Given the description of an element on the screen output the (x, y) to click on. 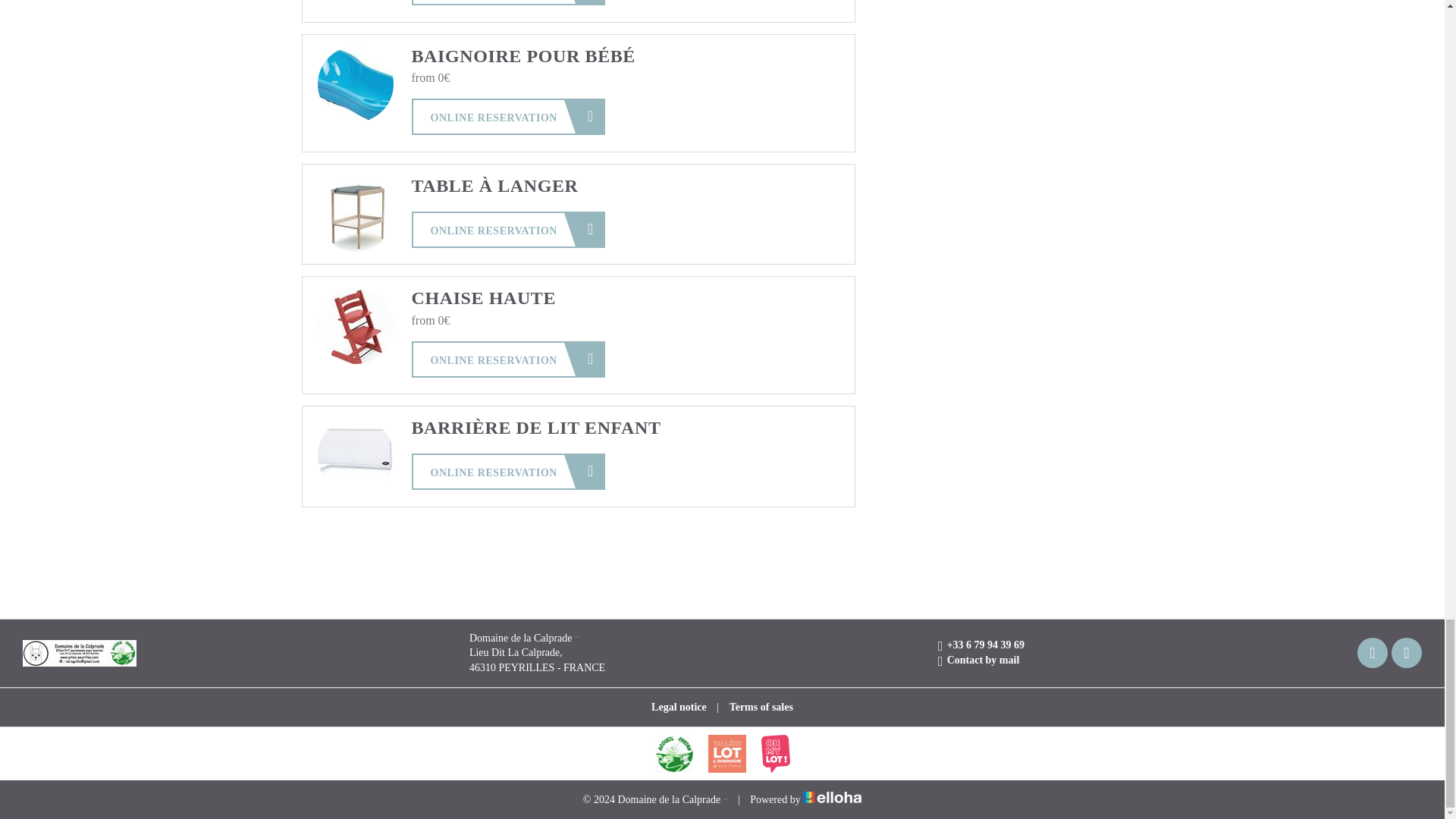
ONLINE RESERVATION (507, 2)
